Given the description of an element on the screen output the (x, y) to click on. 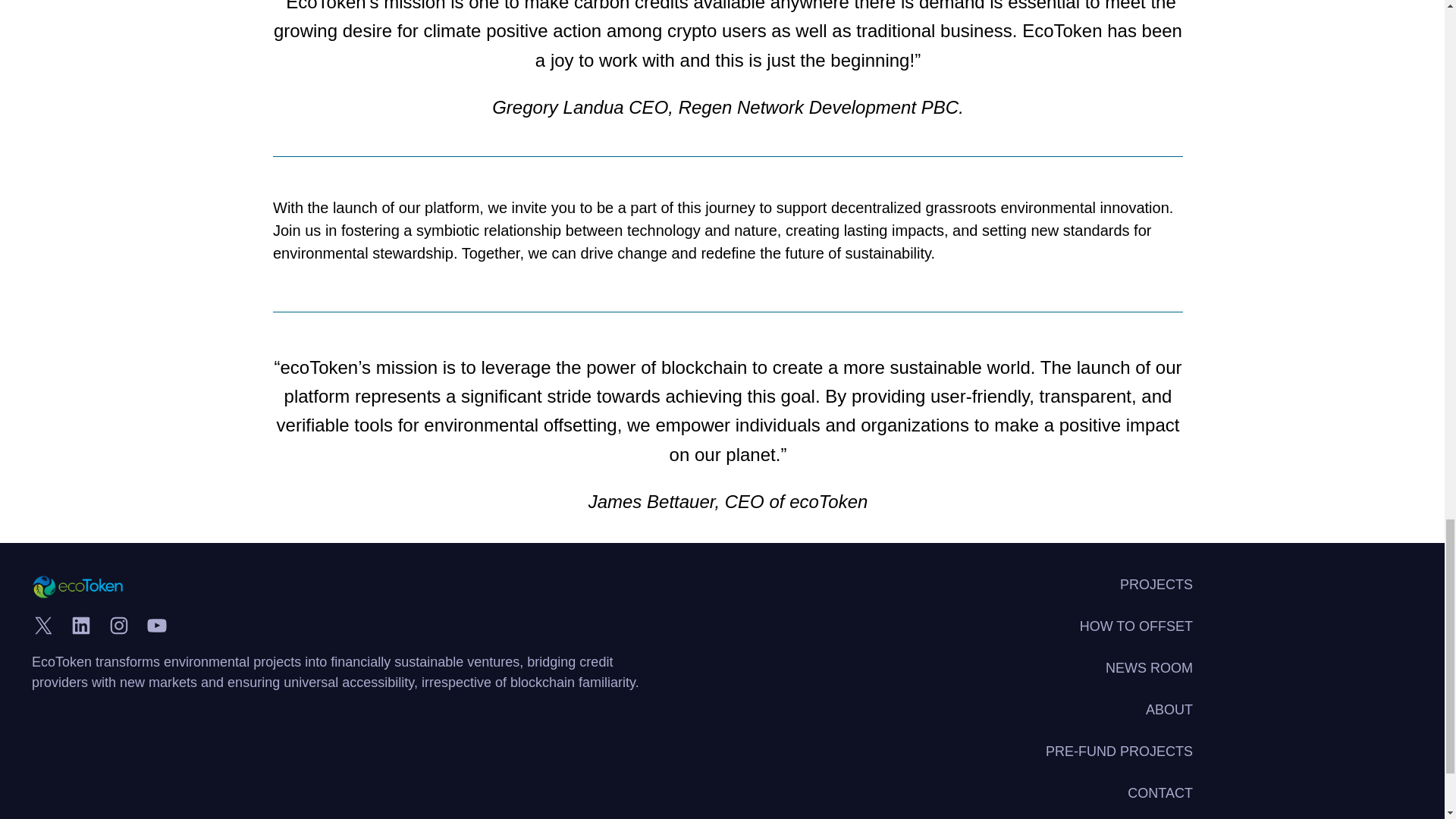
NEWS ROOM (1148, 668)
CONTACT (1159, 792)
HOW TO OFFSET (1136, 626)
ABOUT (1168, 710)
PROJECTS (1155, 584)
PRE-FUND PROJECTS (1118, 752)
